Given the description of an element on the screen output the (x, y) to click on. 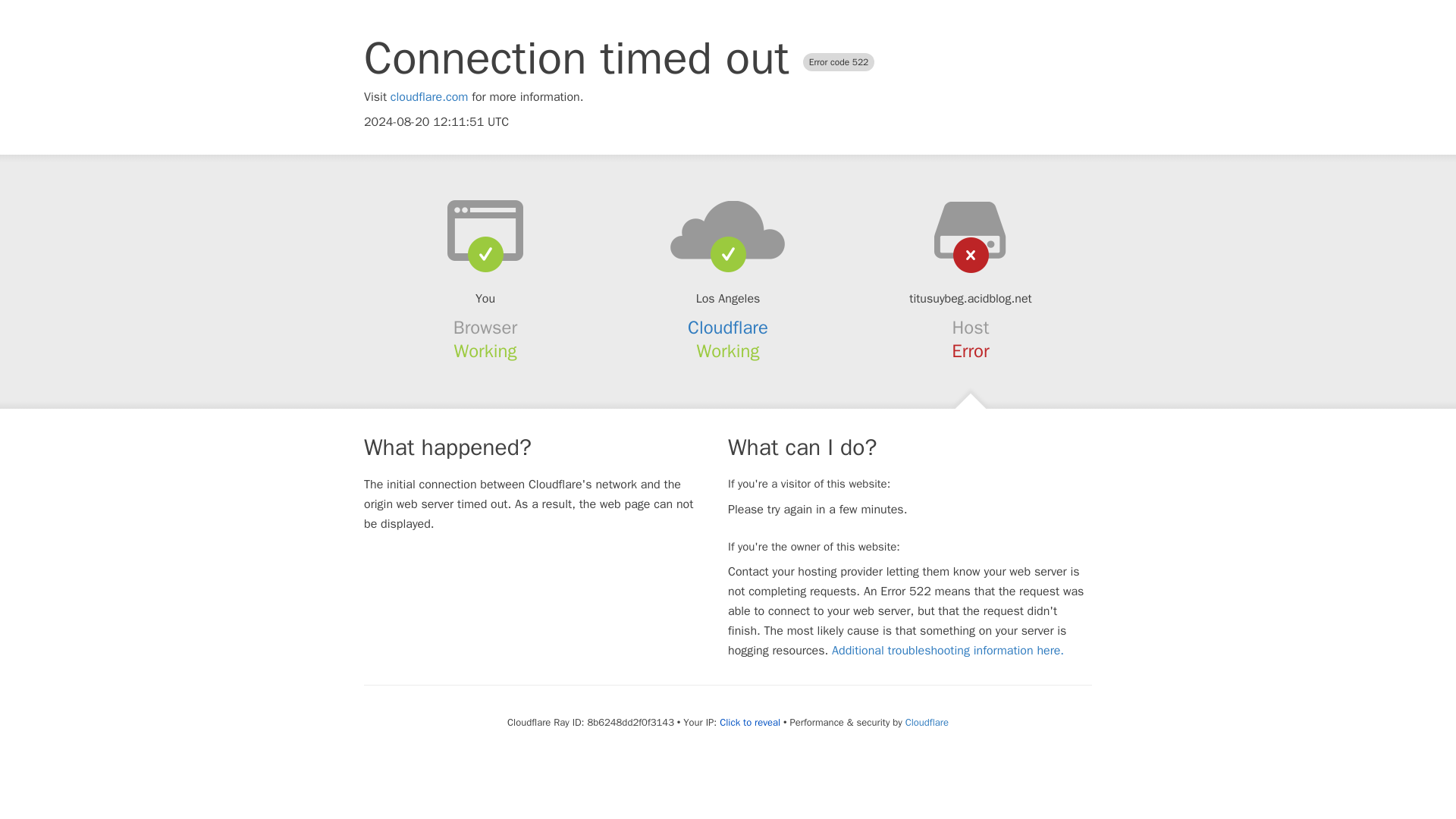
Cloudflare (727, 327)
Cloudflare (927, 721)
Additional troubleshooting information here. (947, 650)
Click to reveal (749, 722)
cloudflare.com (429, 96)
